Given the description of an element on the screen output the (x, y) to click on. 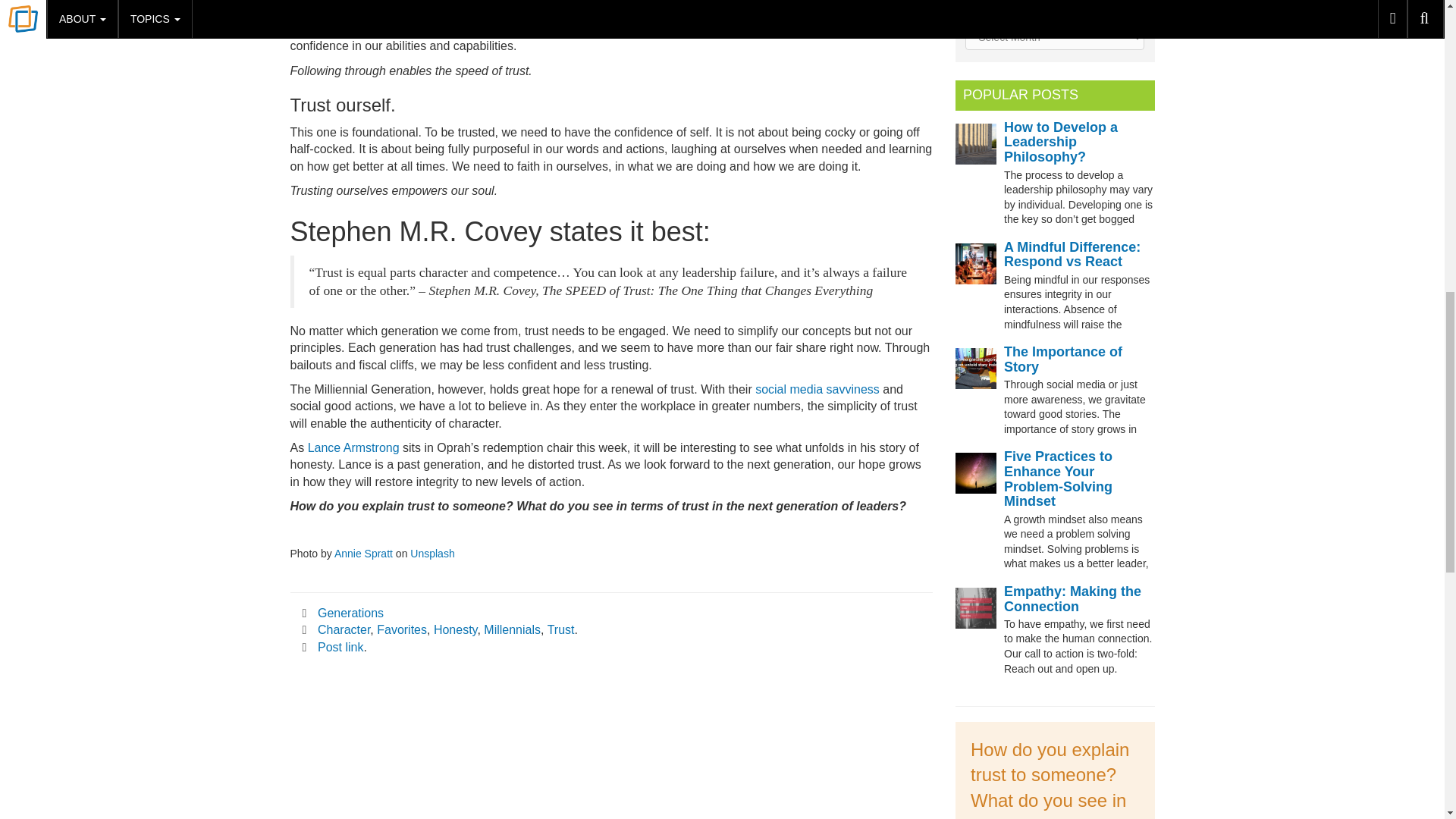
Annie Spratt (363, 553)
How to Develop a Leadership Philosophy? (1061, 142)
Post link (339, 646)
Trust (561, 629)
Unsplash (432, 553)
Five Practices to Enhance Your Problem-Solving Mindset (1058, 478)
Character (343, 629)
Trust: At the Speed of Social Media (817, 389)
Honesty (455, 629)
Favorites (401, 629)
social media savviness (817, 389)
A Mindful Difference: Respond vs React (1072, 254)
Lance Armstrong (352, 447)
Millennials (511, 629)
Livestrong Includes Livehonest (352, 447)
